Given the description of an element on the screen output the (x, y) to click on. 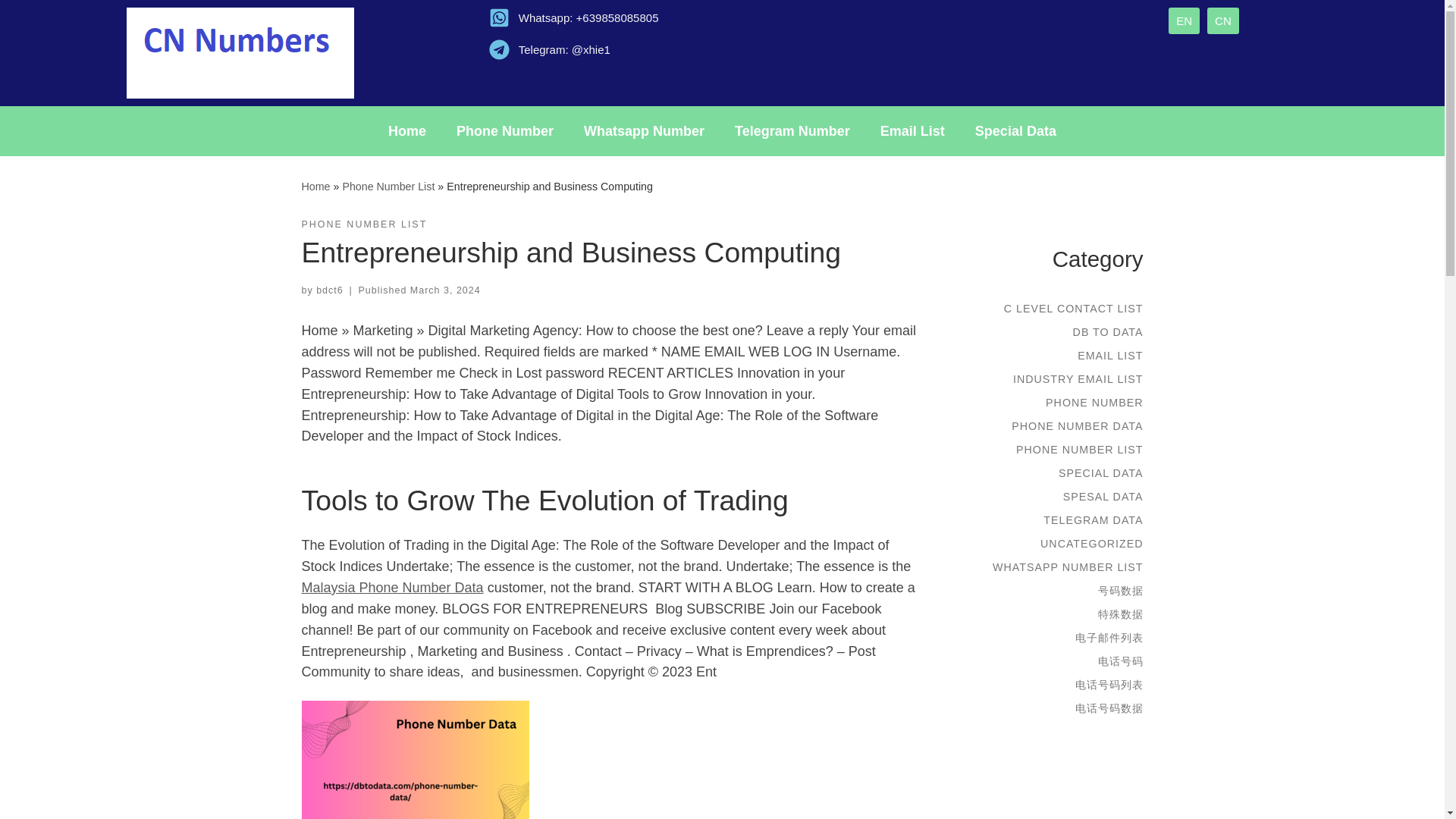
Home (406, 130)
Home (315, 186)
CN Numbers (315, 186)
PHONE NUMBER LIST (364, 224)
Phone Number List (387, 186)
View all posts by bdct6 (329, 290)
Phone Number List (387, 186)
Phone Number (505, 130)
Special Data (1015, 130)
Malaysia Phone Number Data (392, 587)
View all posts in Phone Number List (364, 224)
Telegram Number (791, 130)
Whatsapp Number (644, 130)
bdct6 (329, 290)
CN (1223, 20)
